Given the description of an element on the screen output the (x, y) to click on. 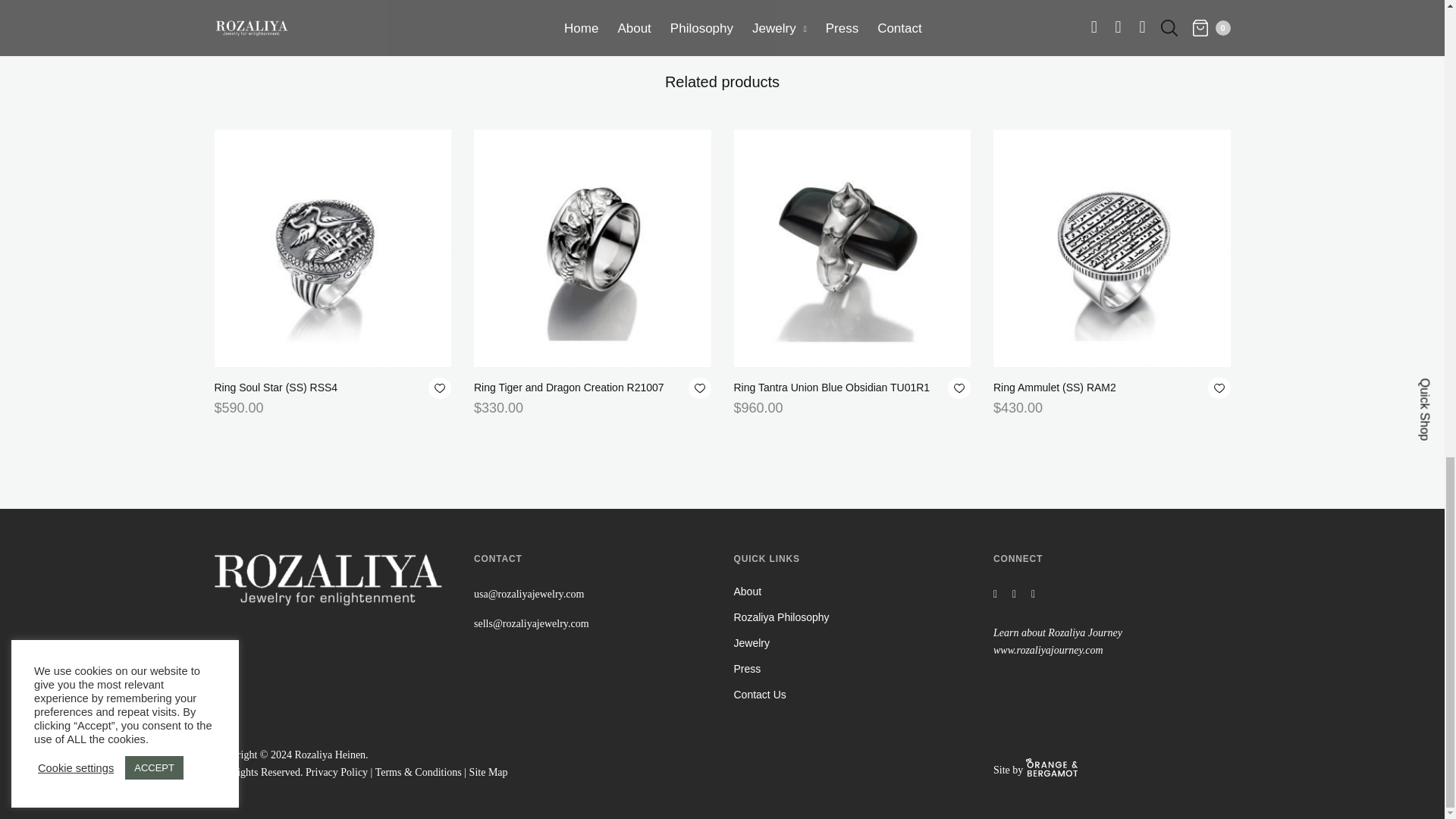
Ring Tiger and Dragon Creation R21007 (568, 387)
Ring Tantra Union Blue Obsidian TU01R1 (831, 387)
Ring Tiger and Dragon Creation R21007 (592, 247)
Ring Tantra Union Blue Obsidian TU01R1 (852, 247)
